Given the description of an element on the screen output the (x, y) to click on. 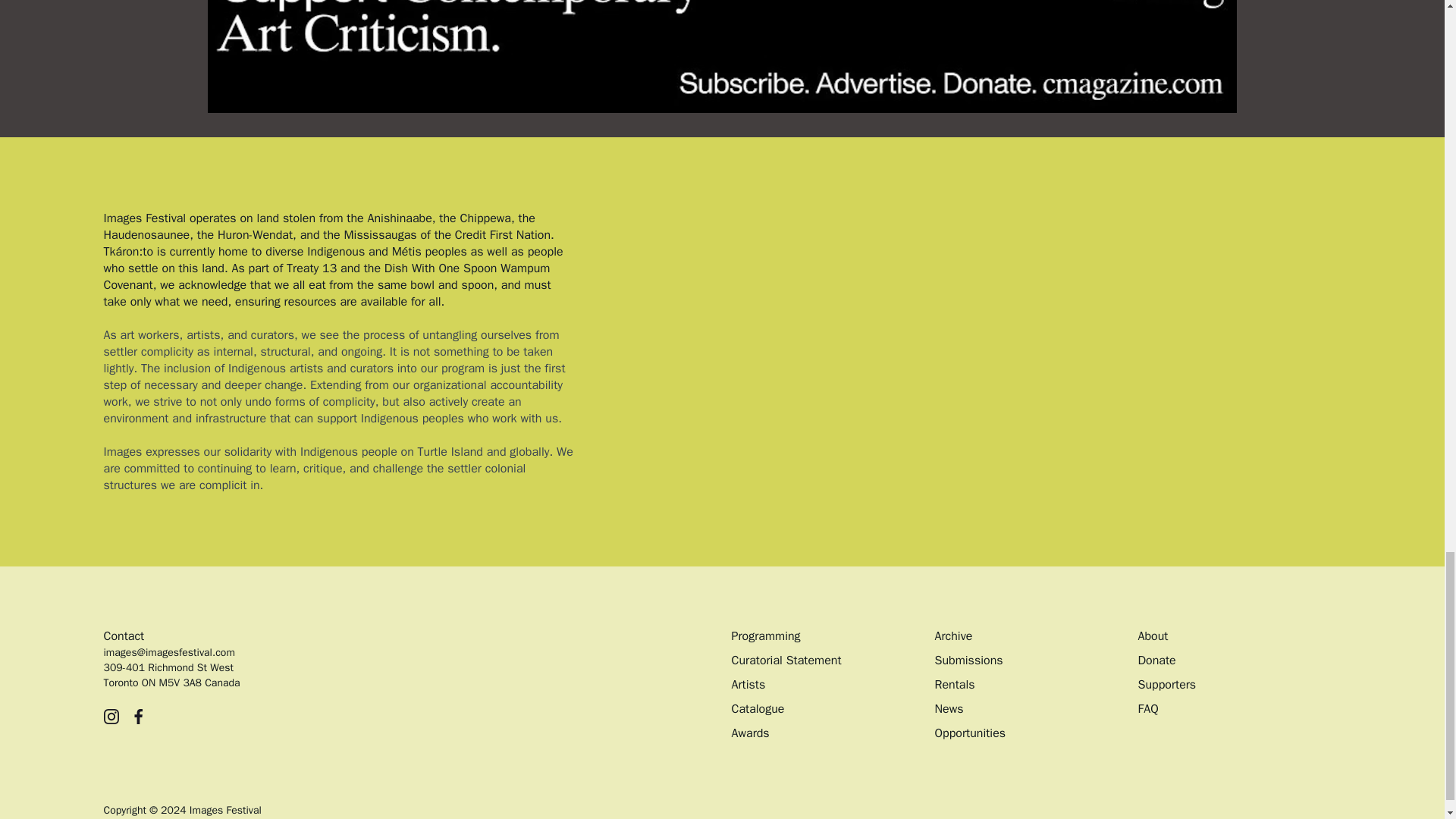
Rentals (954, 684)
Archive (953, 635)
Supporters (1166, 684)
Catalogue (757, 708)
News (948, 708)
Curatorial Statement (785, 660)
Opportunities (970, 733)
Programming (764, 635)
Awards (749, 733)
Submissions (968, 660)
